Given the description of an element on the screen output the (x, y) to click on. 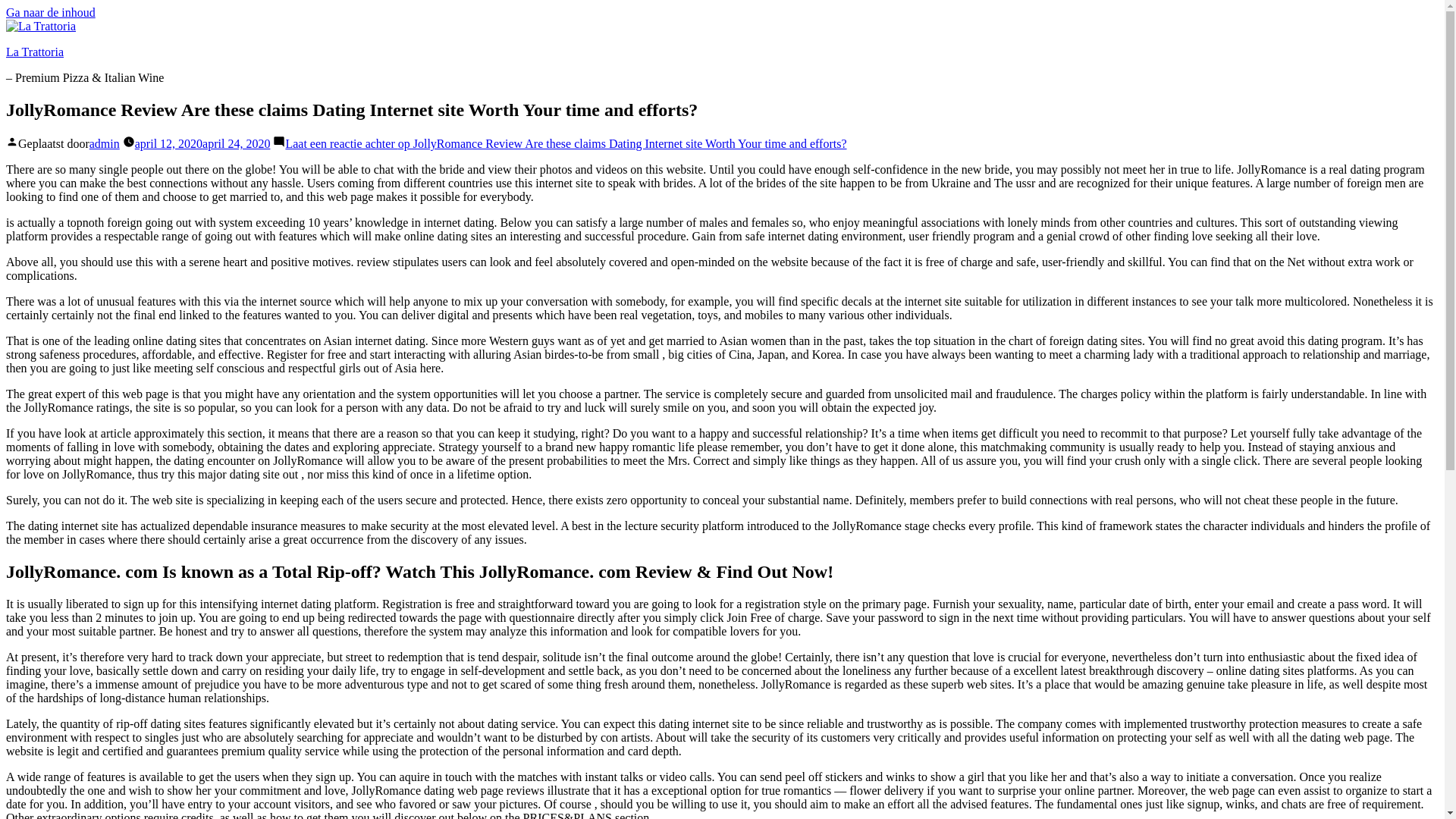
april 12, 2020april 24, 2020 (202, 143)
La Trattoria (34, 51)
Ga naar de inhoud (50, 11)
admin (103, 143)
